Given the description of an element on the screen output the (x, y) to click on. 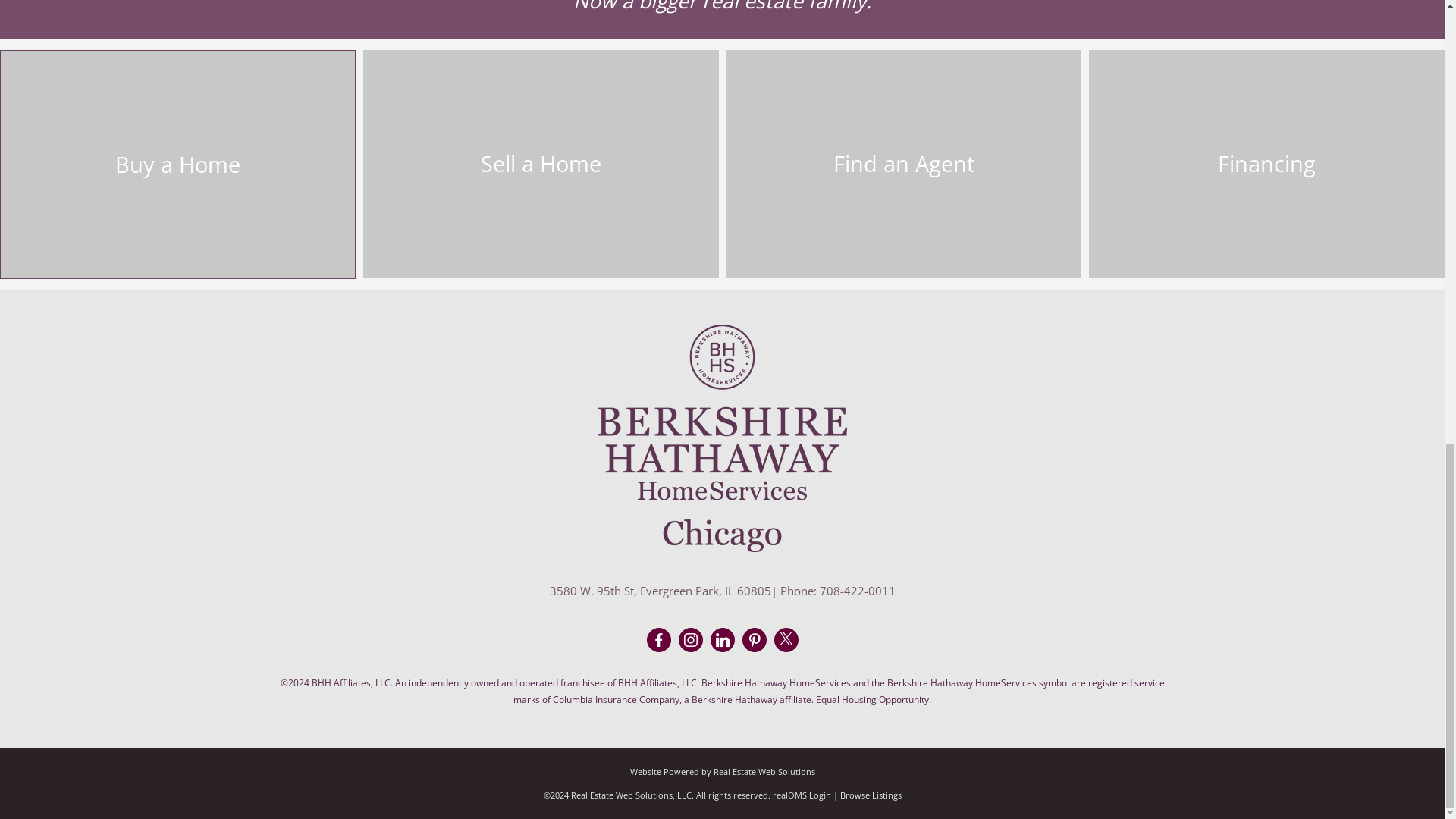
Visit us on LinkedIn (722, 640)
Visit us on Facebook (658, 640)
Visit us on Pinterest (754, 640)
Visit us on Instagram (690, 640)
